Given the description of an element on the screen output the (x, y) to click on. 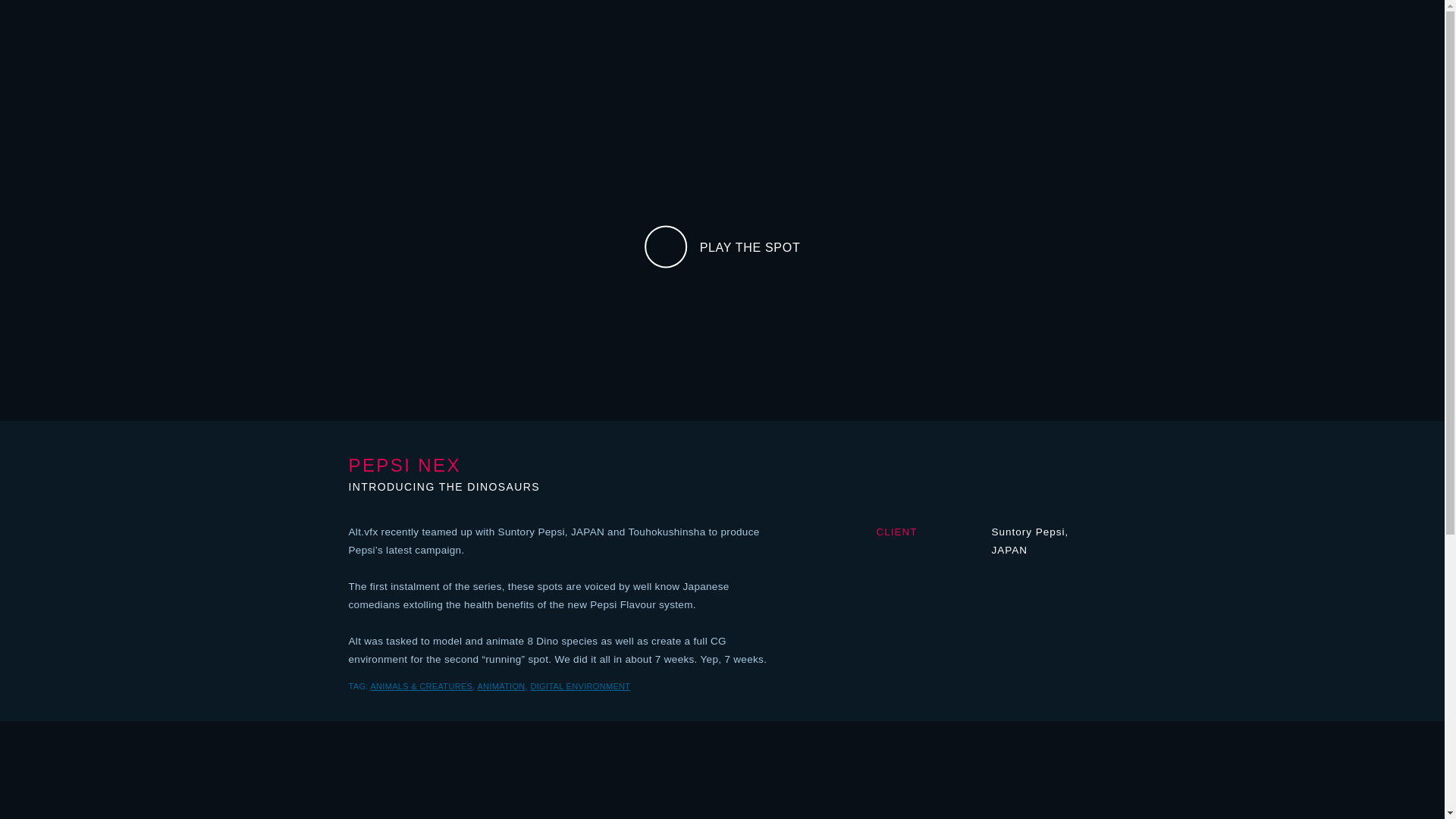
Prev (1173, 6)
Alt.VFX (721, 31)
Prev (270, 6)
